Given the description of an element on the screen output the (x, y) to click on. 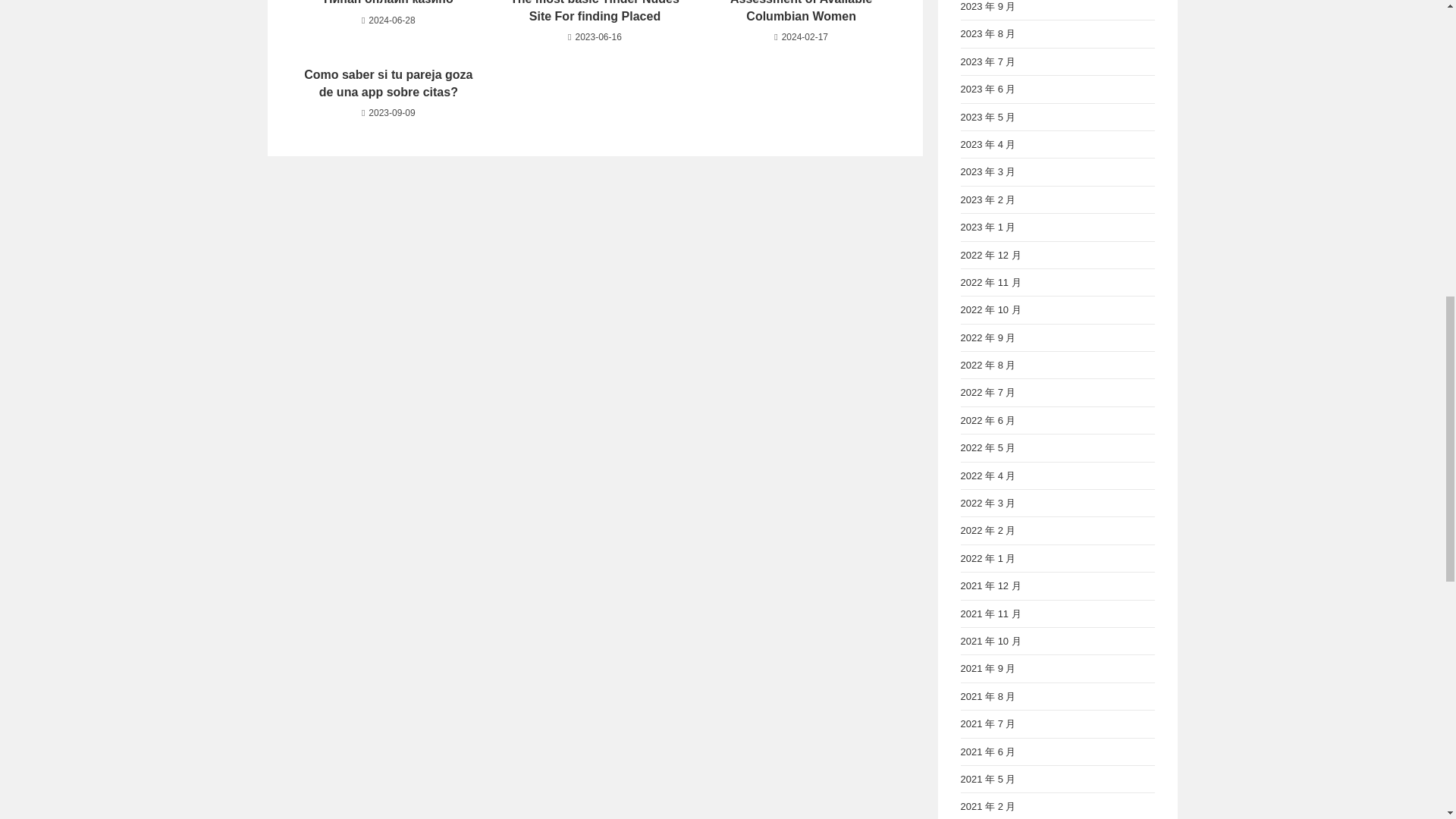
Como saber si tu pareja goza de una app sobre citas? (387, 83)
Assessment of Available Columbian Women (801, 12)
The most basic Tinder Nudes Site For finding Placed (594, 12)
